Given the description of an element on the screen output the (x, y) to click on. 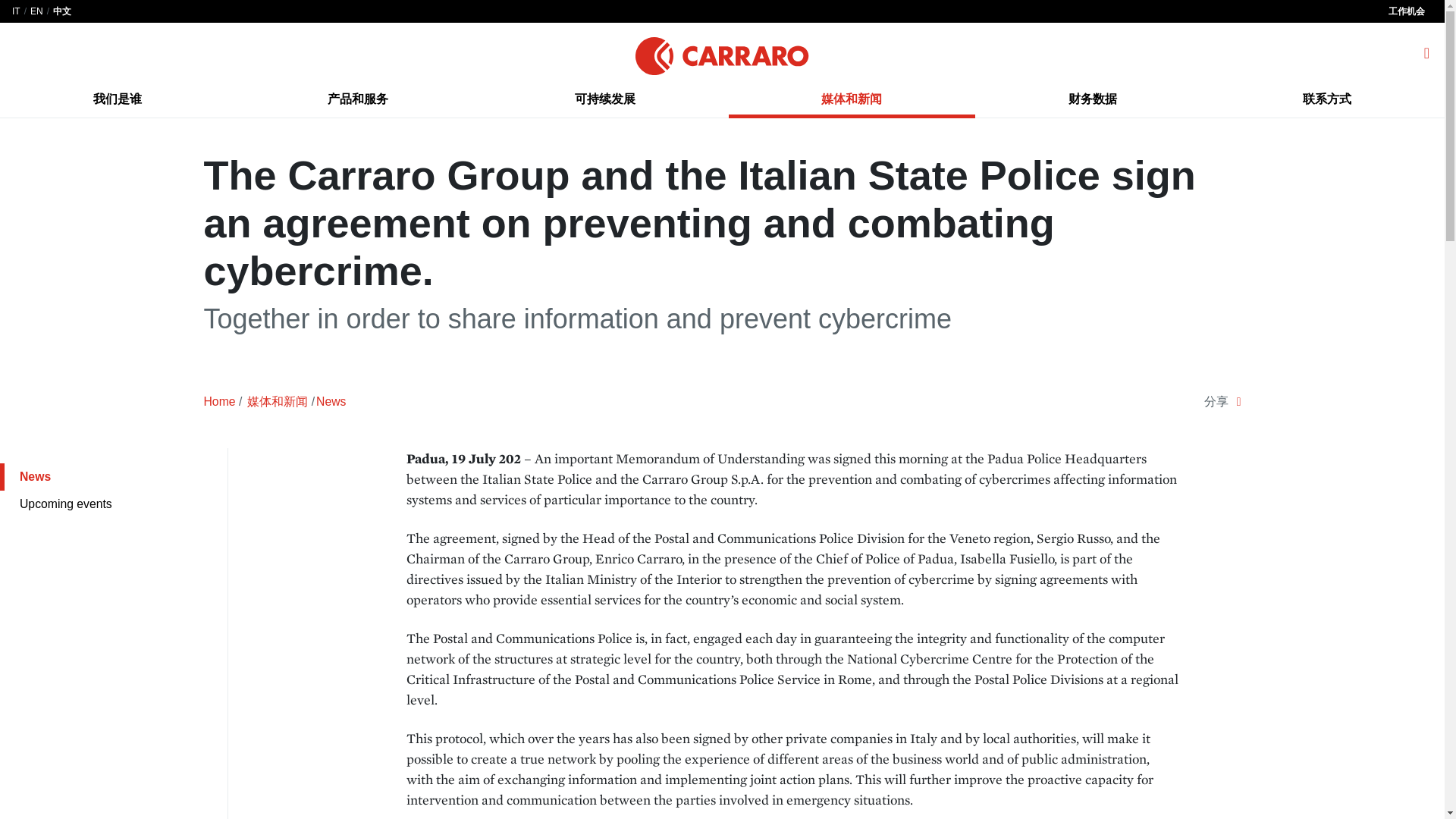
News (330, 401)
Home (218, 401)
News (113, 476)
Upcoming events (113, 503)
Carraro (721, 52)
